Given the description of an element on the screen output the (x, y) to click on. 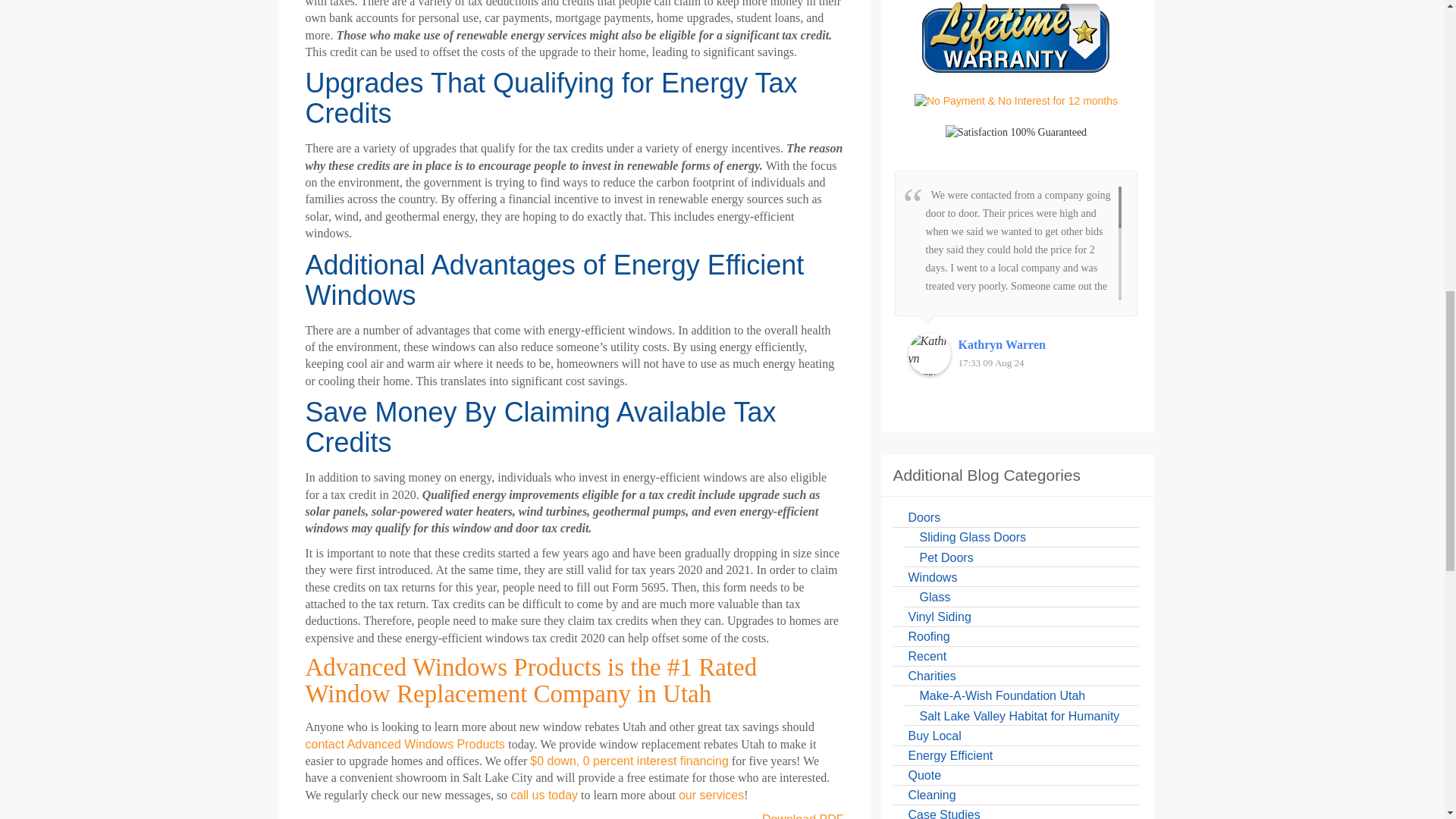
Advanced Window Products Lifetime Warranty (1016, 39)
Kathryn Warren (1041, 344)
Kathryn Warren (929, 353)
